Given the description of an element on the screen output the (x, y) to click on. 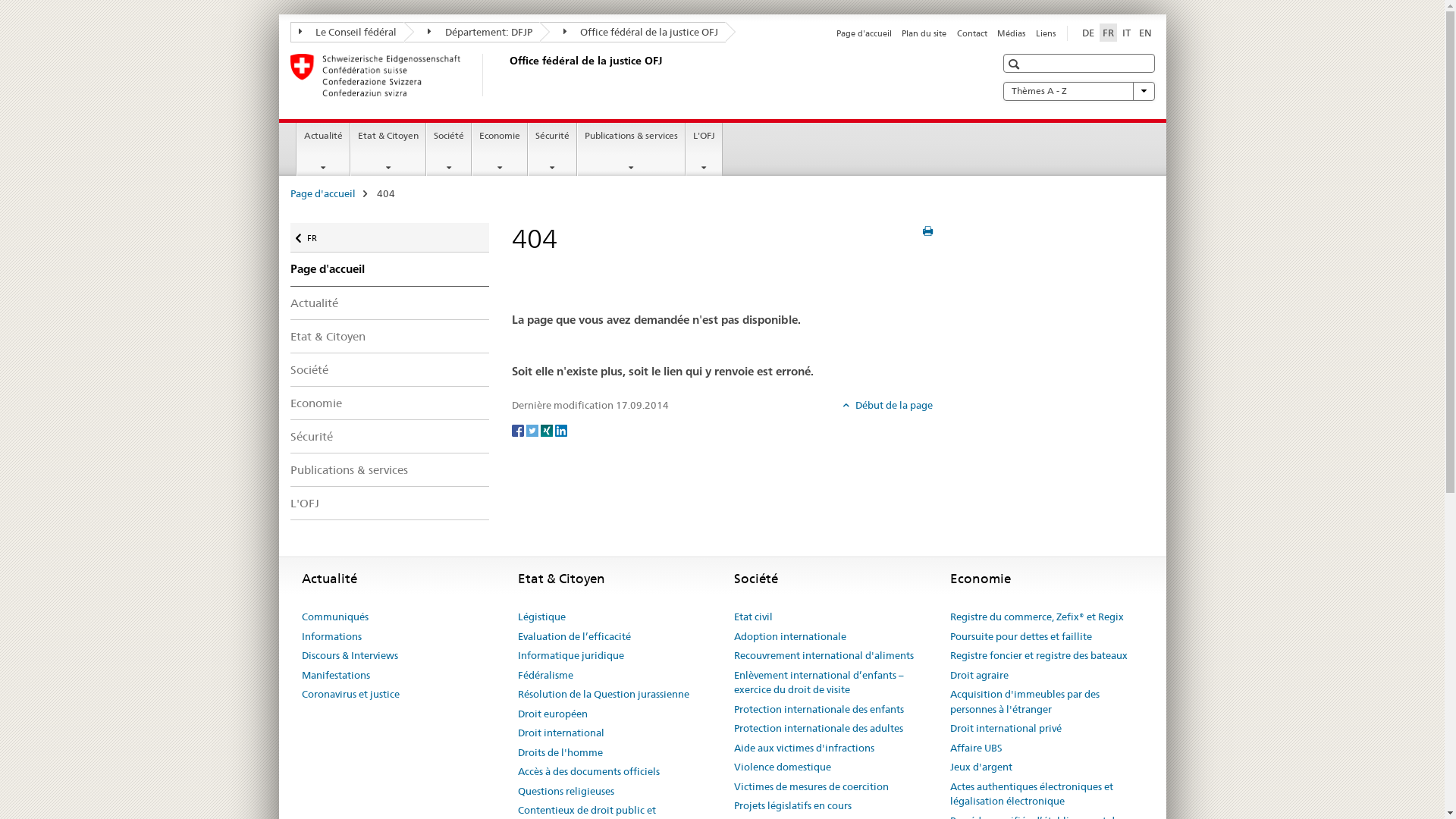
Droit international Element type: text (560, 733)
Publications & services Element type: text (389, 469)
Discours & Interviews Element type: text (349, 655)
Questions religieuses Element type: text (565, 791)
Economie Element type: text (389, 402)
Violence domestique Element type: text (782, 767)
Page d'accueil Element type: text (389, 268)
Imprimer cette page Element type: hover (927, 230)
Etat civil Element type: text (753, 617)
Victimes de mesures de coercition Element type: text (811, 787)
L'OFJ Element type: text (389, 502)
Manifestations Element type: text (335, 675)
Coronavirus et justice Element type: text (350, 694)
Page d'accueil Element type: text (863, 33)
Etat & Citoyen Element type: text (388, 148)
Liens Element type: text (1045, 33)
Aide aux victimes d'infractions Element type: text (804, 748)
Publications & services Element type: text (630, 148)
Page d'accueil Element type: text (321, 193)
Etat & Citoyen Element type: text (389, 336)
Registre foncier et registre des bateaux Element type: text (1037, 655)
Plan du site Element type: text (923, 33)
Informatique juridique Element type: text (570, 655)
FR Element type: text (1108, 32)
Protection internationale des adultes Element type: text (818, 728)
IT Element type: text (1126, 32)
Droit agraire Element type: text (978, 675)
Economie Element type: text (499, 148)
Adoption internationale Element type: text (790, 636)
Retour
FR Element type: text (389, 237)
Poursuite pour dettes et faillite Element type: text (1020, 636)
Informations Element type: text (331, 636)
Droits de l'homme Element type: text (559, 752)
Affaire UBS Element type: text (975, 748)
DE Element type: text (1087, 32)
Contact Element type: text (972, 33)
Recouvrement international d'aliments Element type: text (823, 655)
EN Element type: text (1144, 32)
L'OFJ Element type: text (703, 148)
Protection internationale des enfants Element type: text (818, 709)
Jeux d'argent Element type: text (980, 767)
